Given the description of an element on the screen output the (x, y) to click on. 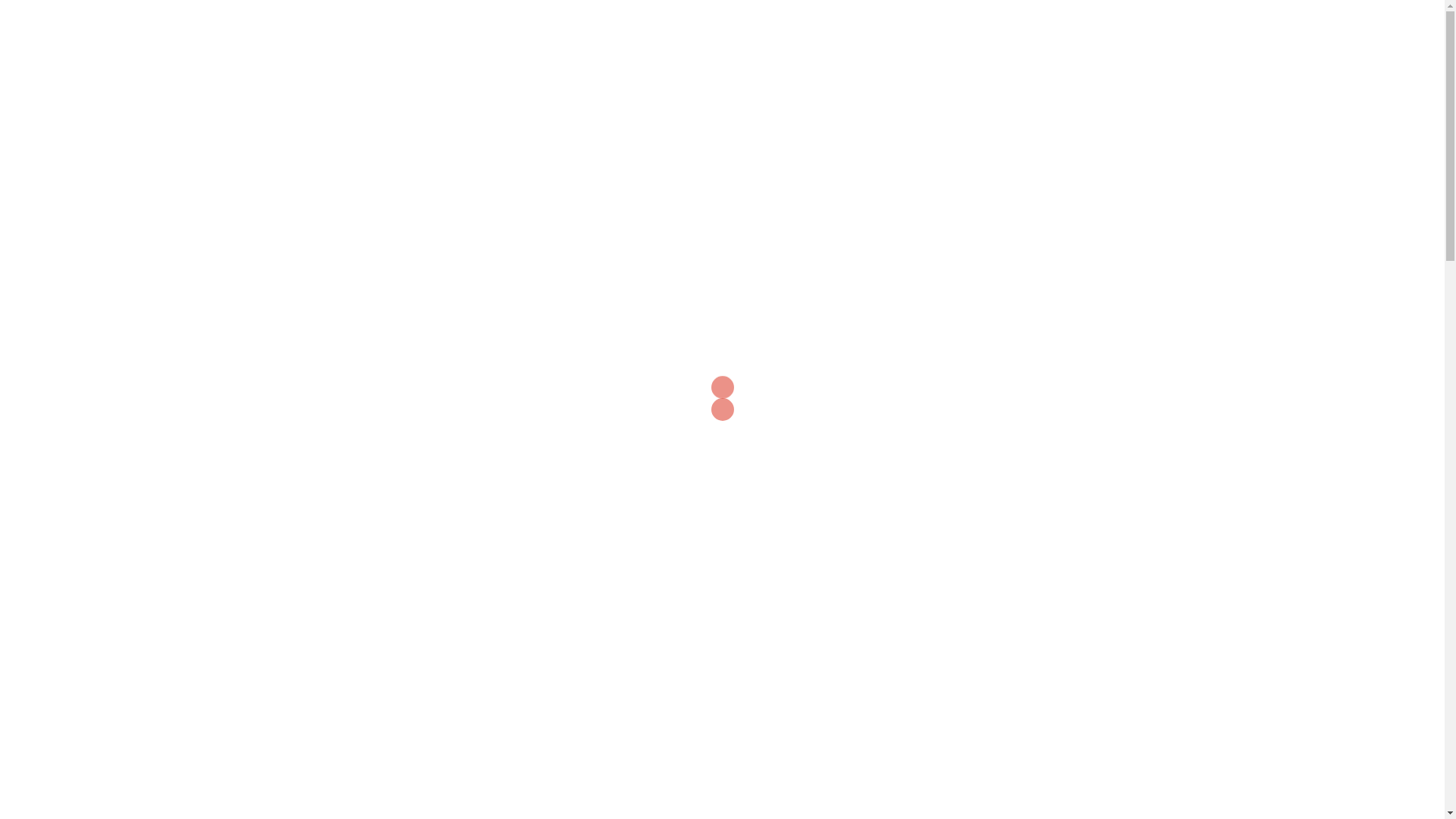
Home Element type: text (862, 52)
Kontakt Element type: text (1124, 52)
Hier Element type: text (373, 100)
Datenplan Element type: text (991, 52)
Skip to content Element type: text (0, 0)
Aktuelles Element type: text (920, 52)
